Given the description of an element on the screen output the (x, y) to click on. 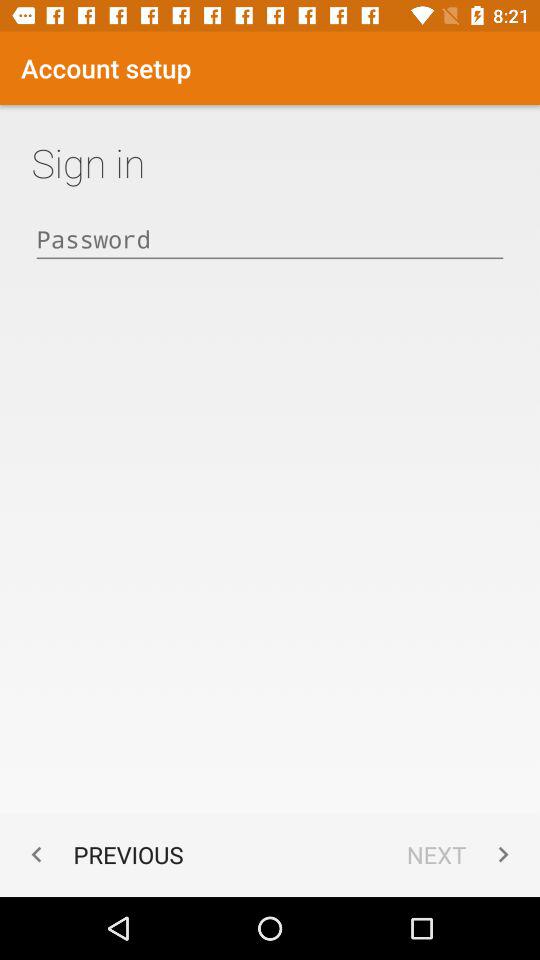
select the app next to next icon (102, 854)
